Given the description of an element on the screen output the (x, y) to click on. 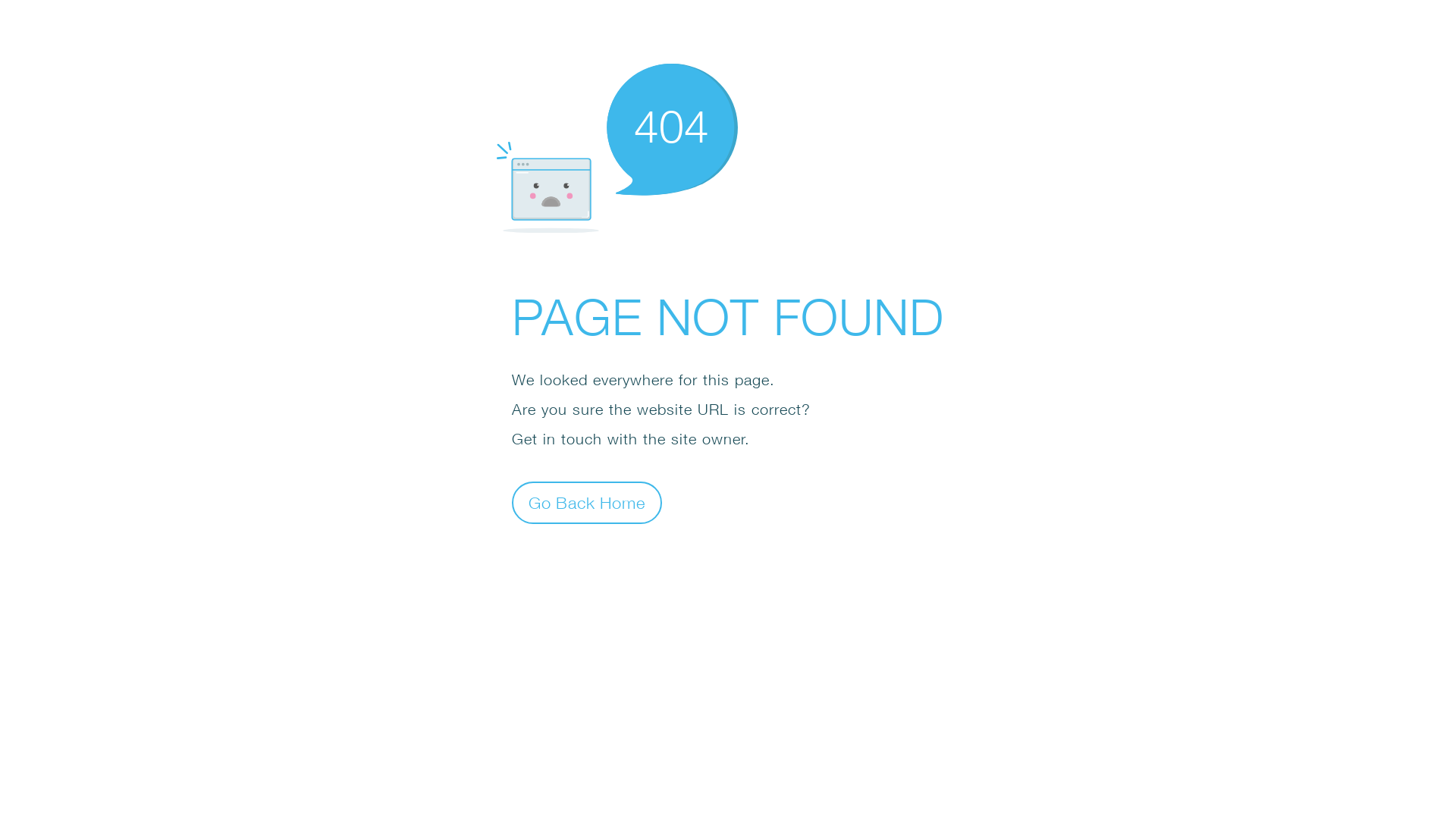
Go Back Home Element type: text (586, 502)
